Given the description of an element on the screen output the (x, y) to click on. 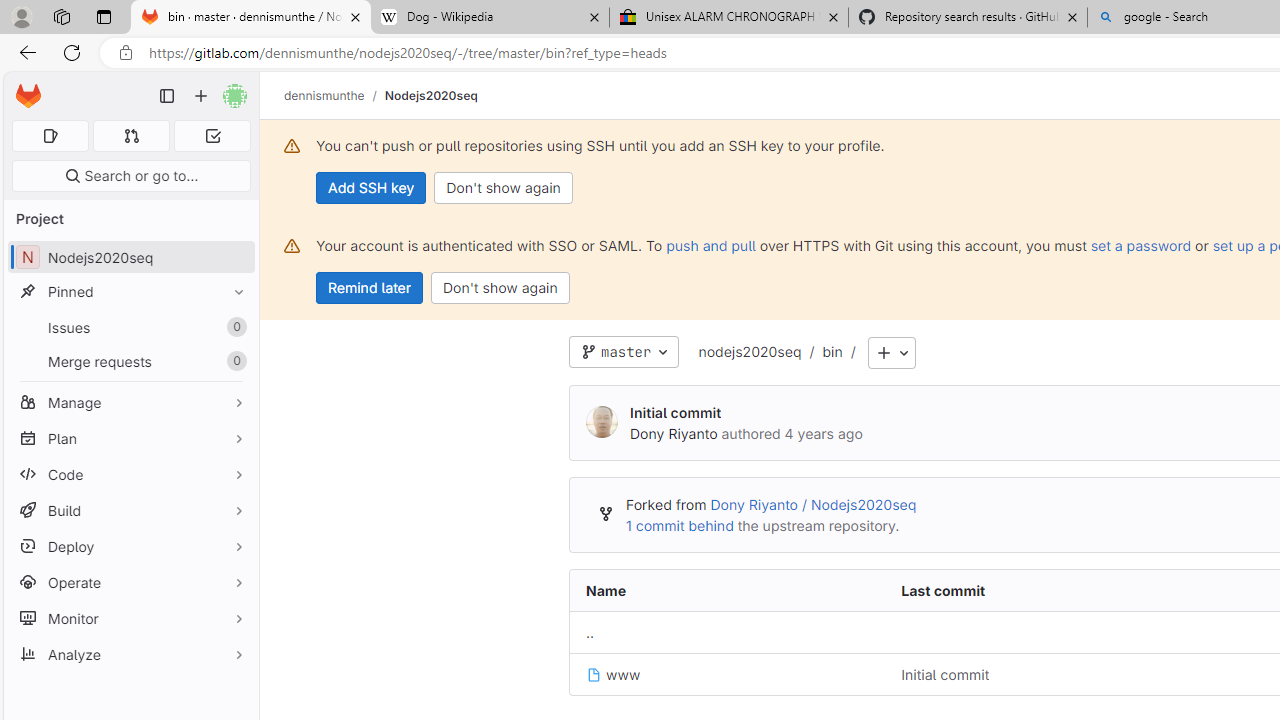
Issues 0 (130, 327)
NNodejs2020seq (130, 257)
Class: s16 gl-alert-icon gl-alert-icon-no-title (291, 246)
Add SSH key (371, 187)
1 commit behind (679, 525)
/bin (822, 353)
Name (727, 591)
www (727, 674)
dennismunthe (324, 95)
Primary navigation sidebar (167, 96)
Dog - Wikipedia (490, 17)
Go to parent (590, 633)
